Given the description of an element on the screen output the (x, y) to click on. 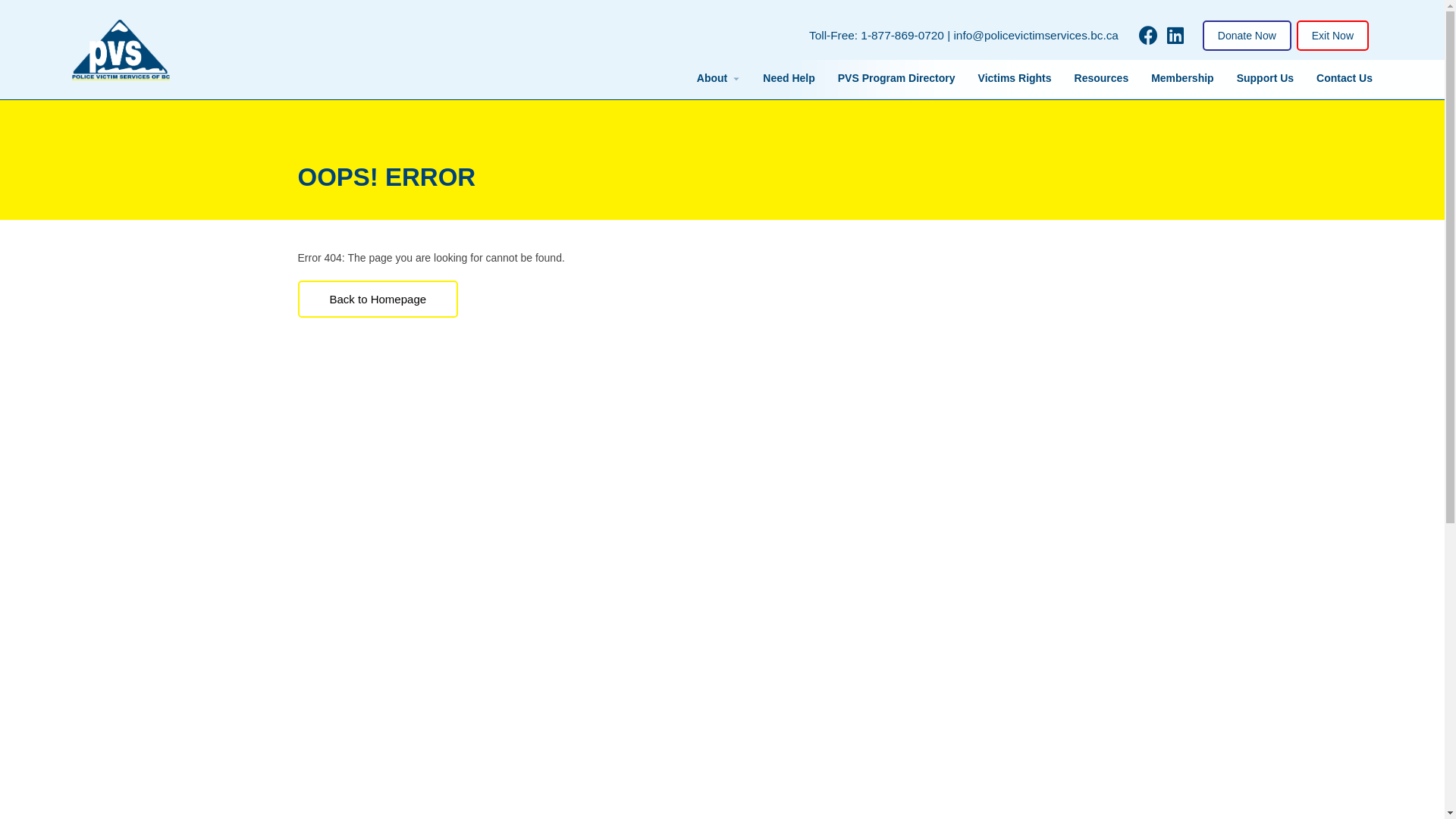
About Element type: text (711, 78)
Need Help Element type: text (788, 78)
Membership Element type: text (1182, 78)
Support Us Element type: text (1264, 78)
Contact Us Element type: text (1344, 78)
Back to Homepage Element type: text (377, 298)
Victims Rights Element type: text (1014, 78)
Exit Now Element type: text (1332, 34)
PVS Program Directory Element type: text (896, 78)
Donate Now Element type: text (1246, 34)
Resources Element type: text (1101, 78)
